Given the description of an element on the screen output the (x, y) to click on. 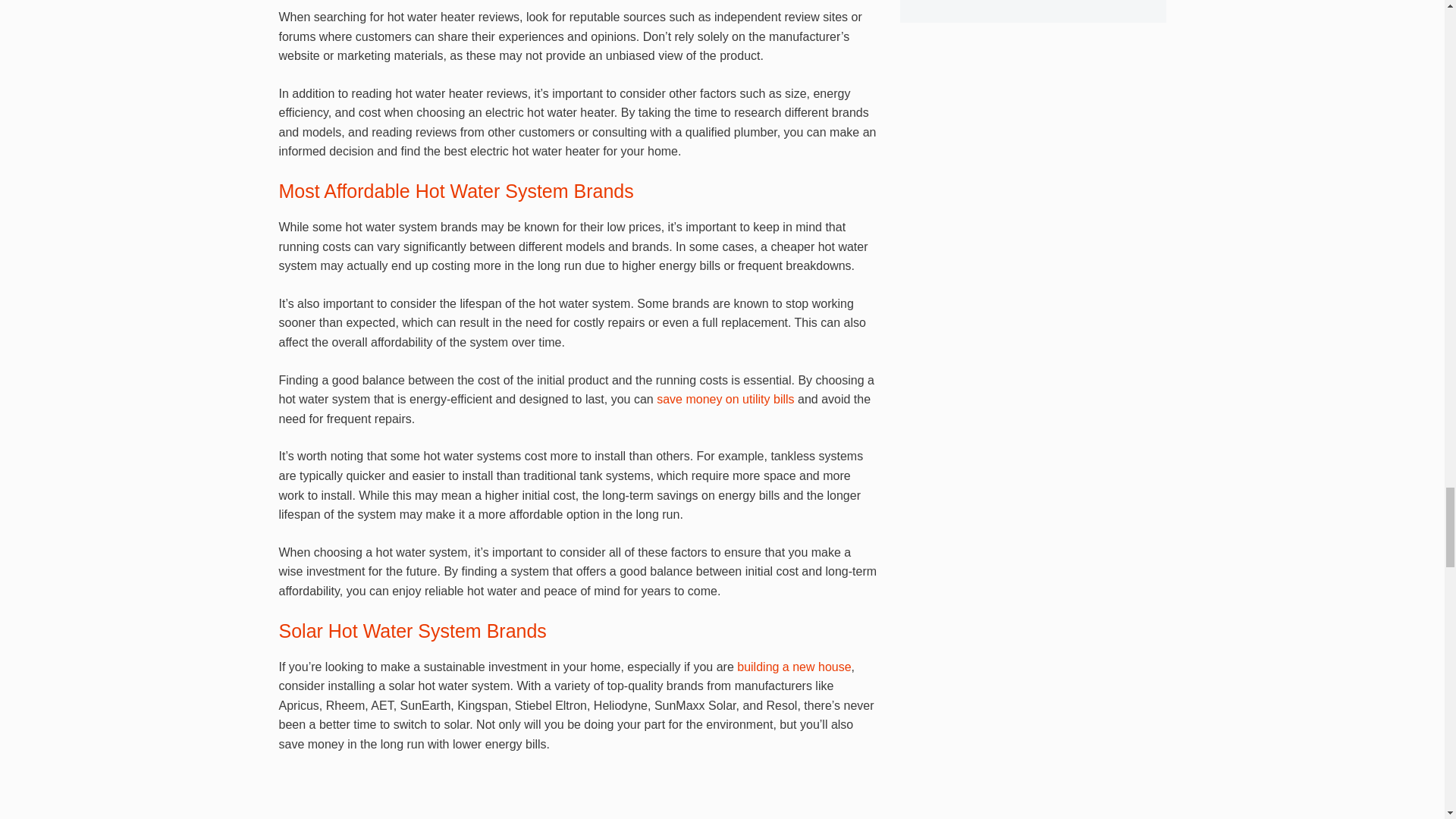
building a new house (793, 666)
save money on utility bills (724, 399)
